Given the description of an element on the screen output the (x, y) to click on. 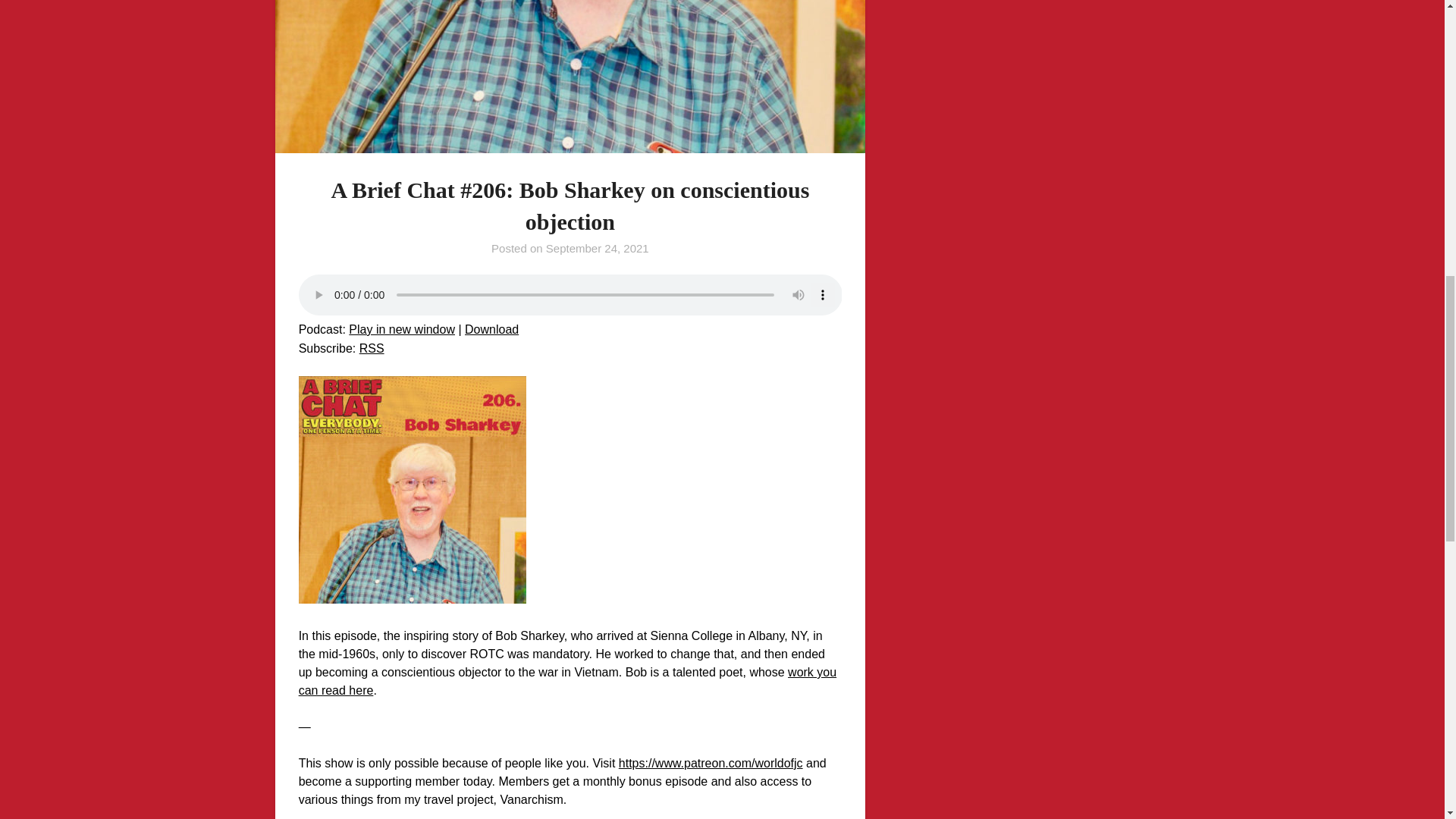
Download (491, 328)
work you can read here (566, 680)
Download (491, 328)
Play in new window (401, 328)
Subscribe via RSS (371, 348)
Play in new window (401, 328)
September 24, 2021 (597, 247)
RSS (371, 348)
